Given the description of an element on the screen output the (x, y) to click on. 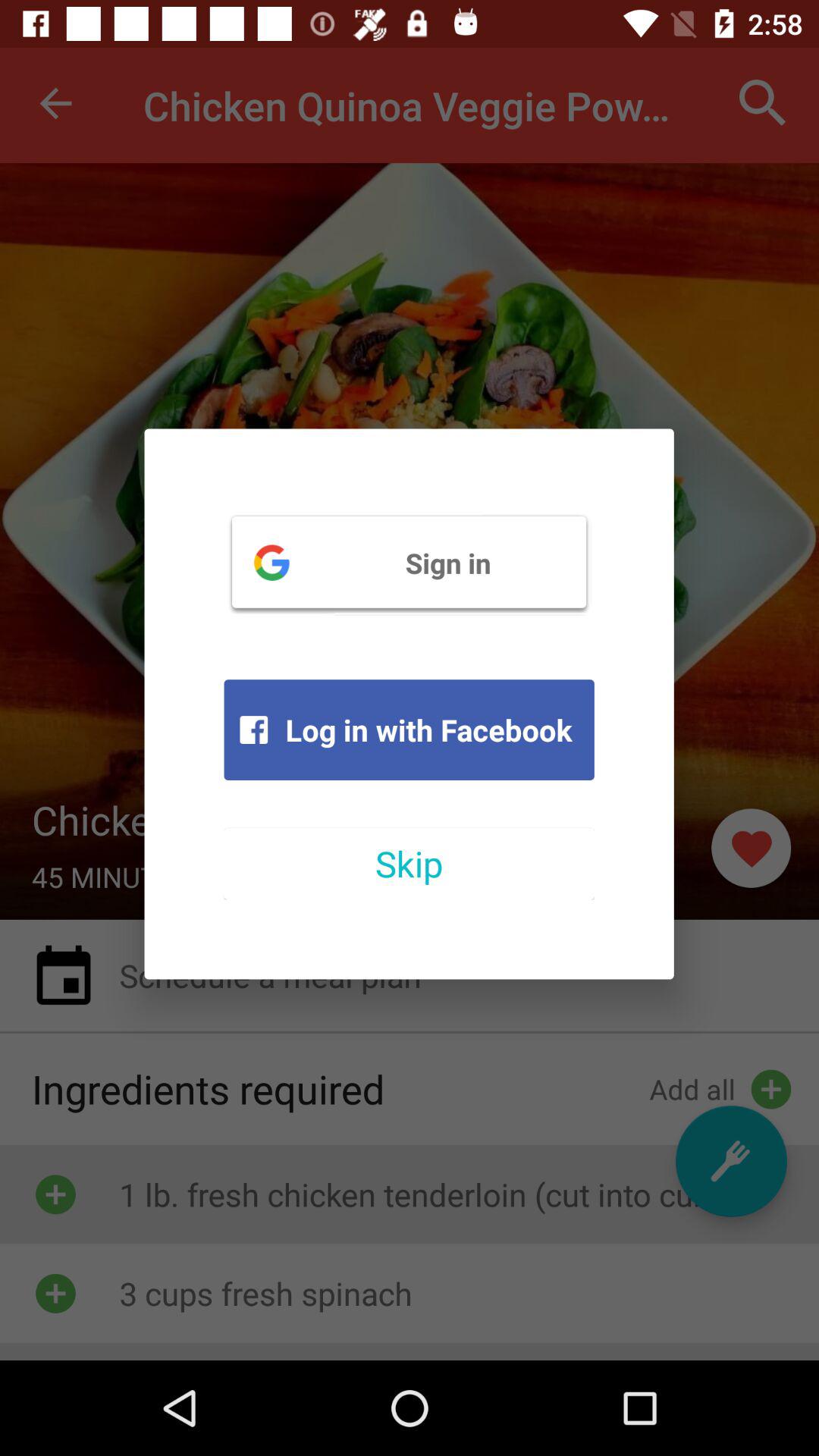
click sign in icon (409, 561)
